Given the description of an element on the screen output the (x, y) to click on. 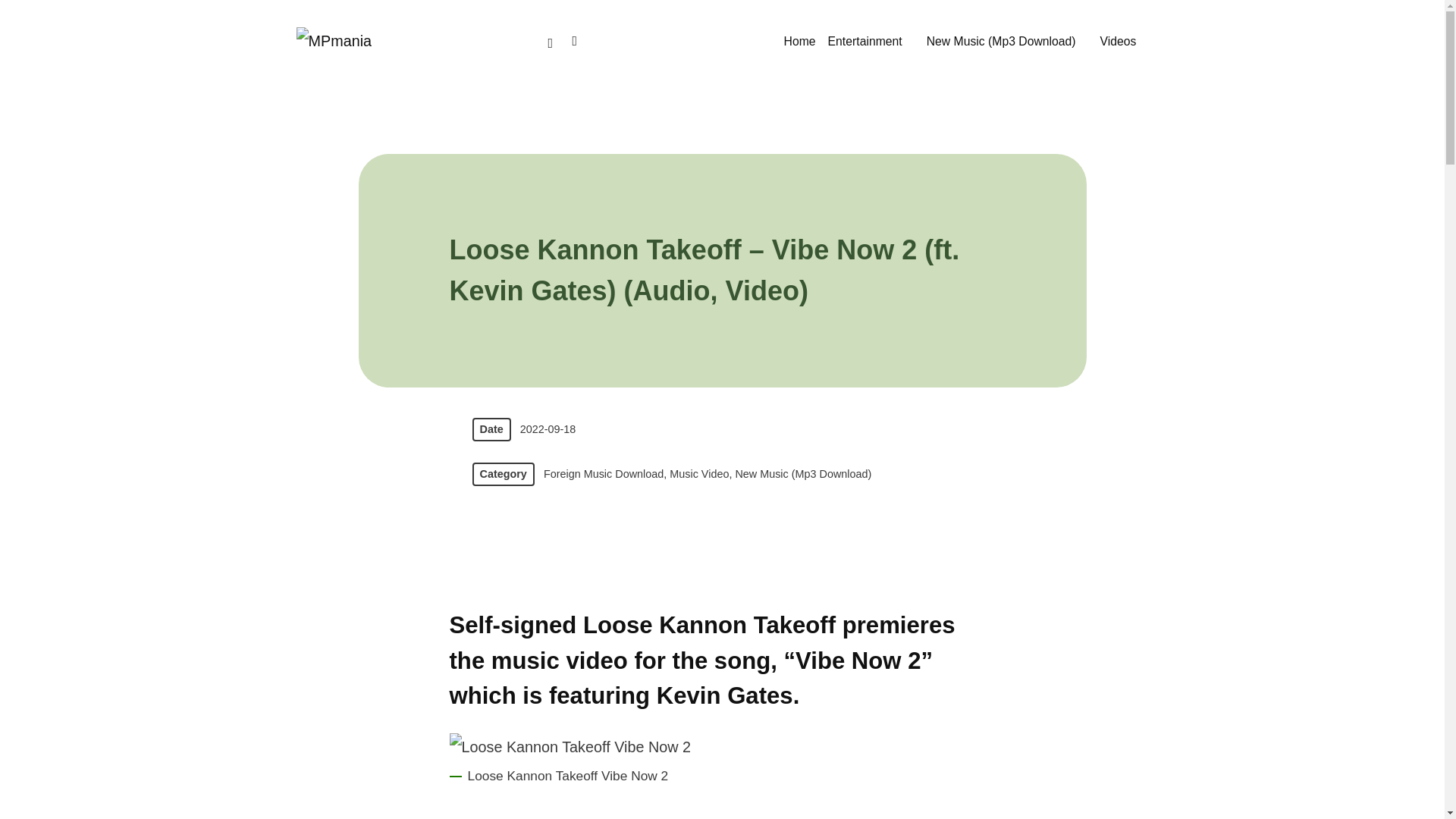
Home (799, 41)
Music Video (699, 474)
Change Color Mode (550, 40)
MPmania (333, 39)
Search (574, 38)
Entertainment (871, 41)
Videos (1124, 41)
Foreign Music Download (603, 474)
